Given the description of an element on the screen output the (x, y) to click on. 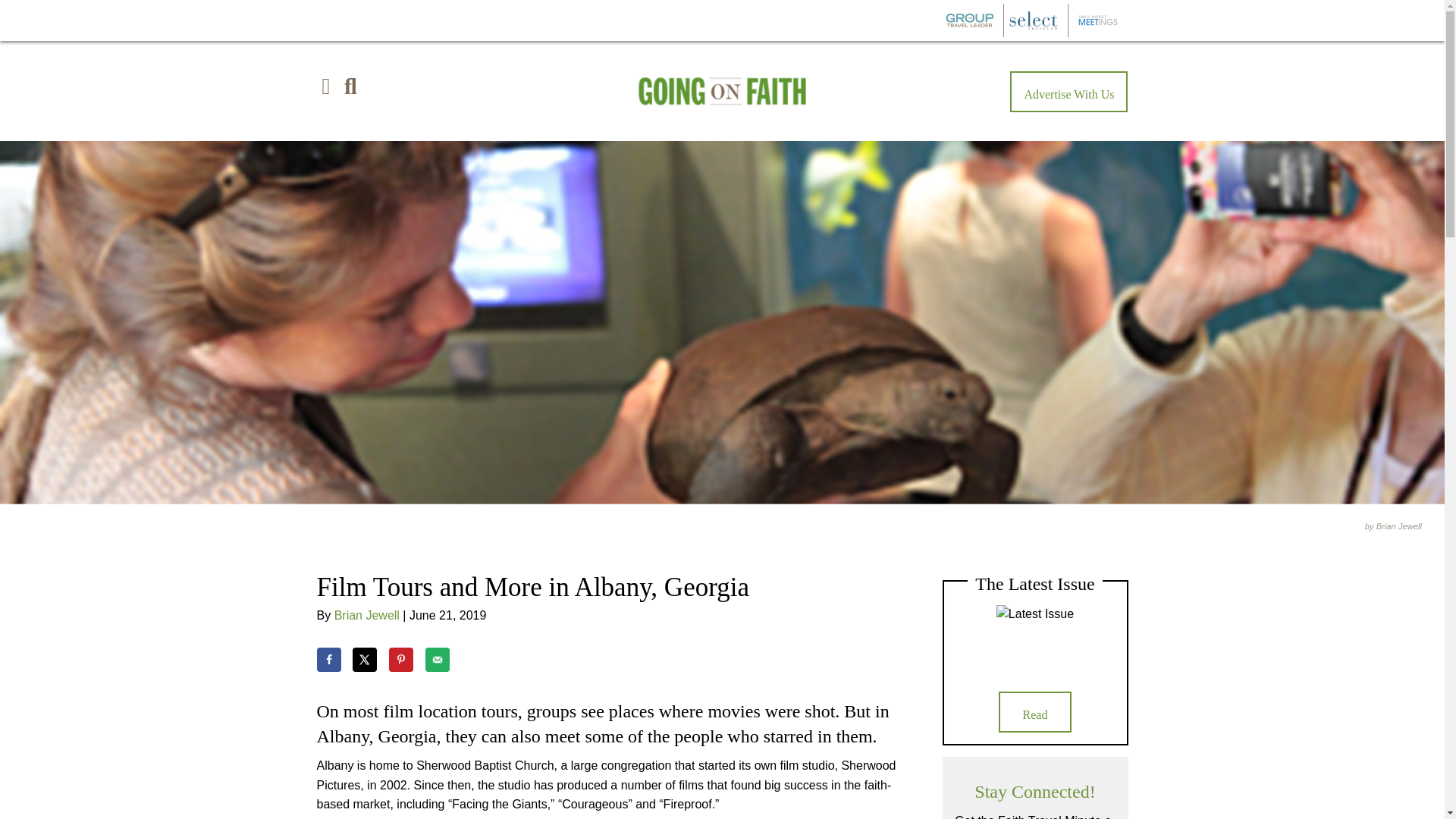
Send over email (437, 659)
Save to Pinterest (400, 659)
See All Posts by Brian Jewell (366, 615)
Brian Jewell (366, 615)
Share on X (364, 659)
Share on Facebook (328, 659)
Advertise With Us (1068, 91)
